Given the description of an element on the screen output the (x, y) to click on. 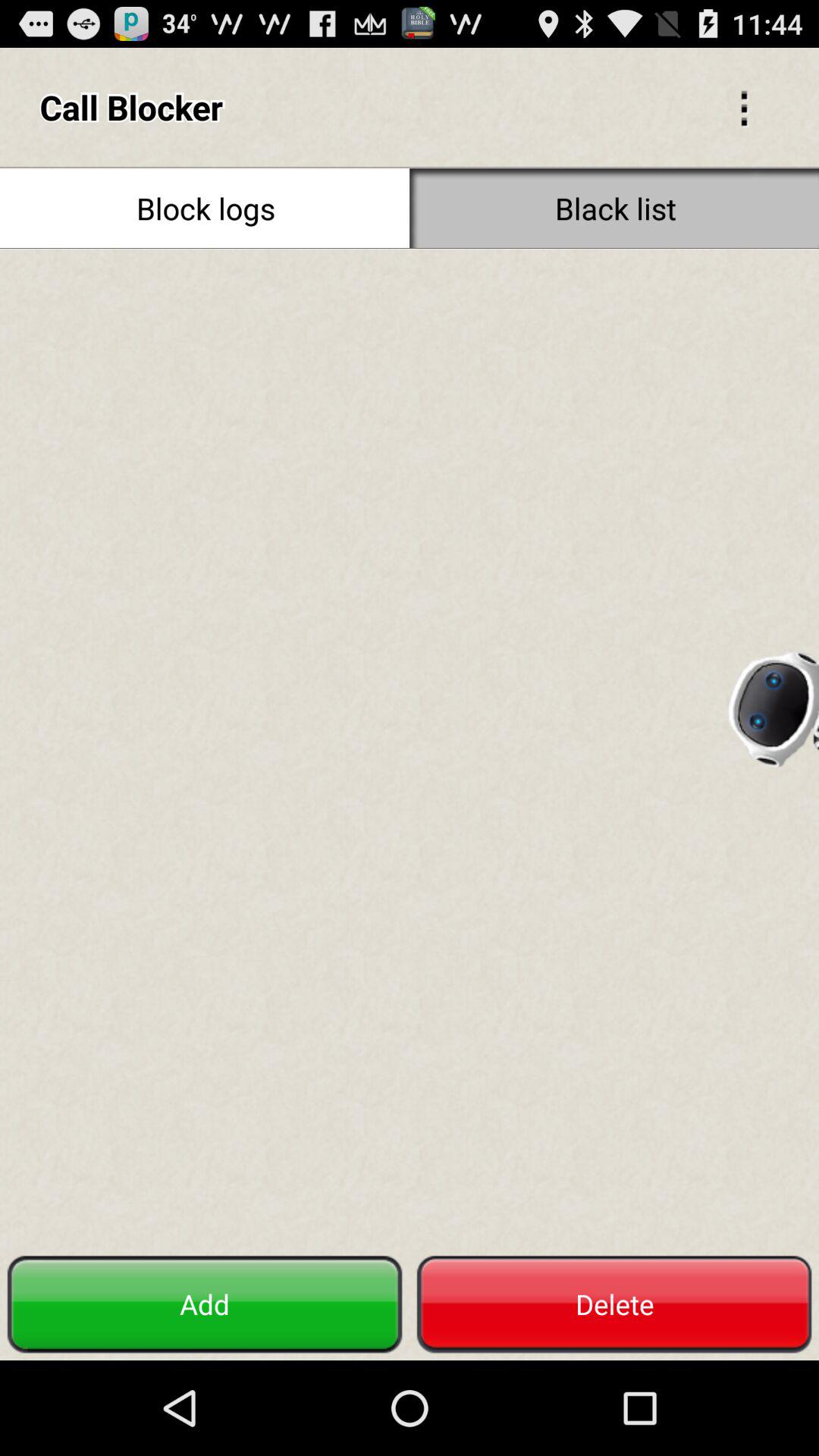
open the delete item (613, 1304)
